Given the description of an element on the screen output the (x, y) to click on. 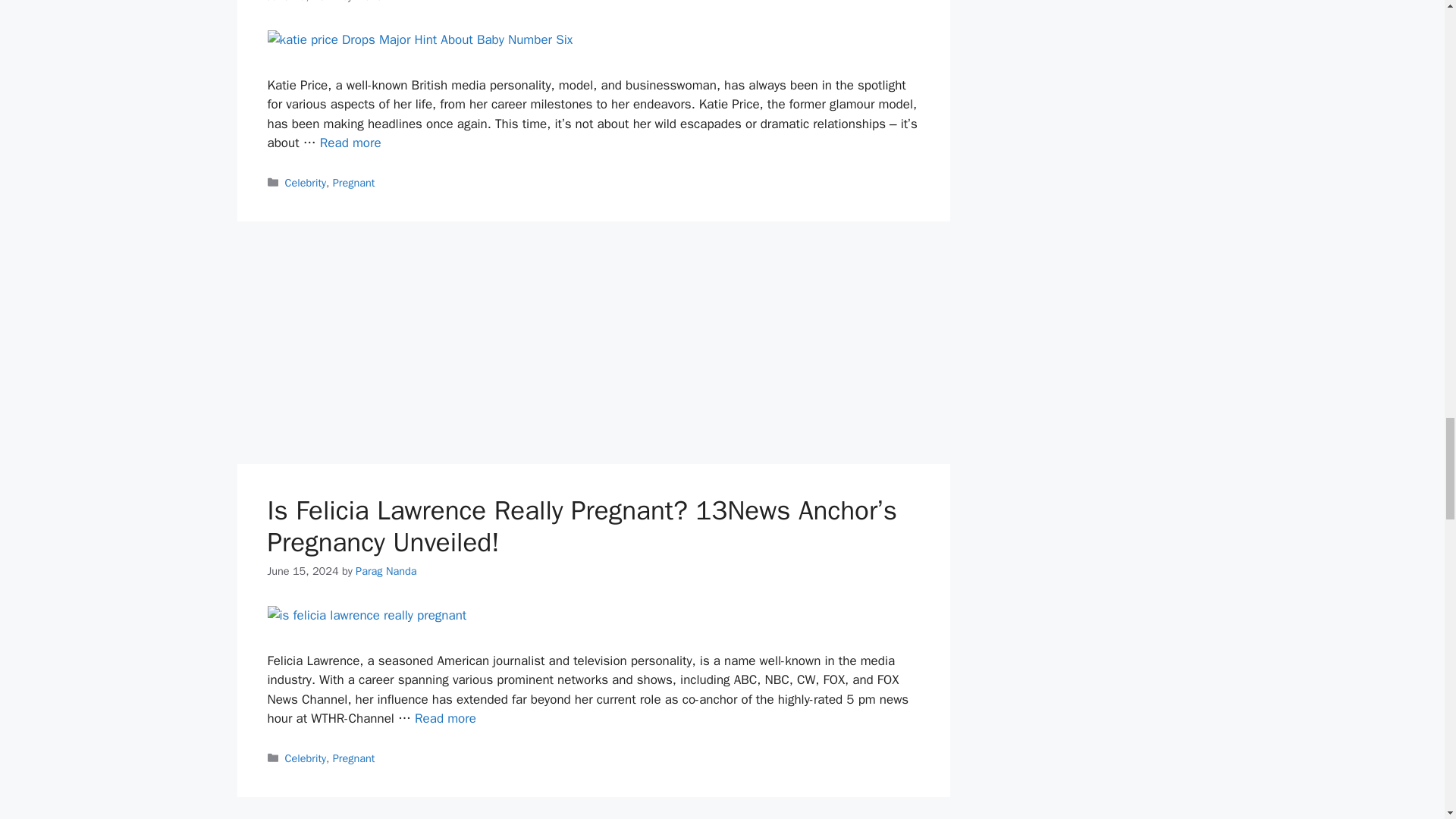
Mansi (369, 1)
View all posts by Parag Nanda (385, 571)
View all posts by Mansi (369, 1)
